Given the description of an element on the screen output the (x, y) to click on. 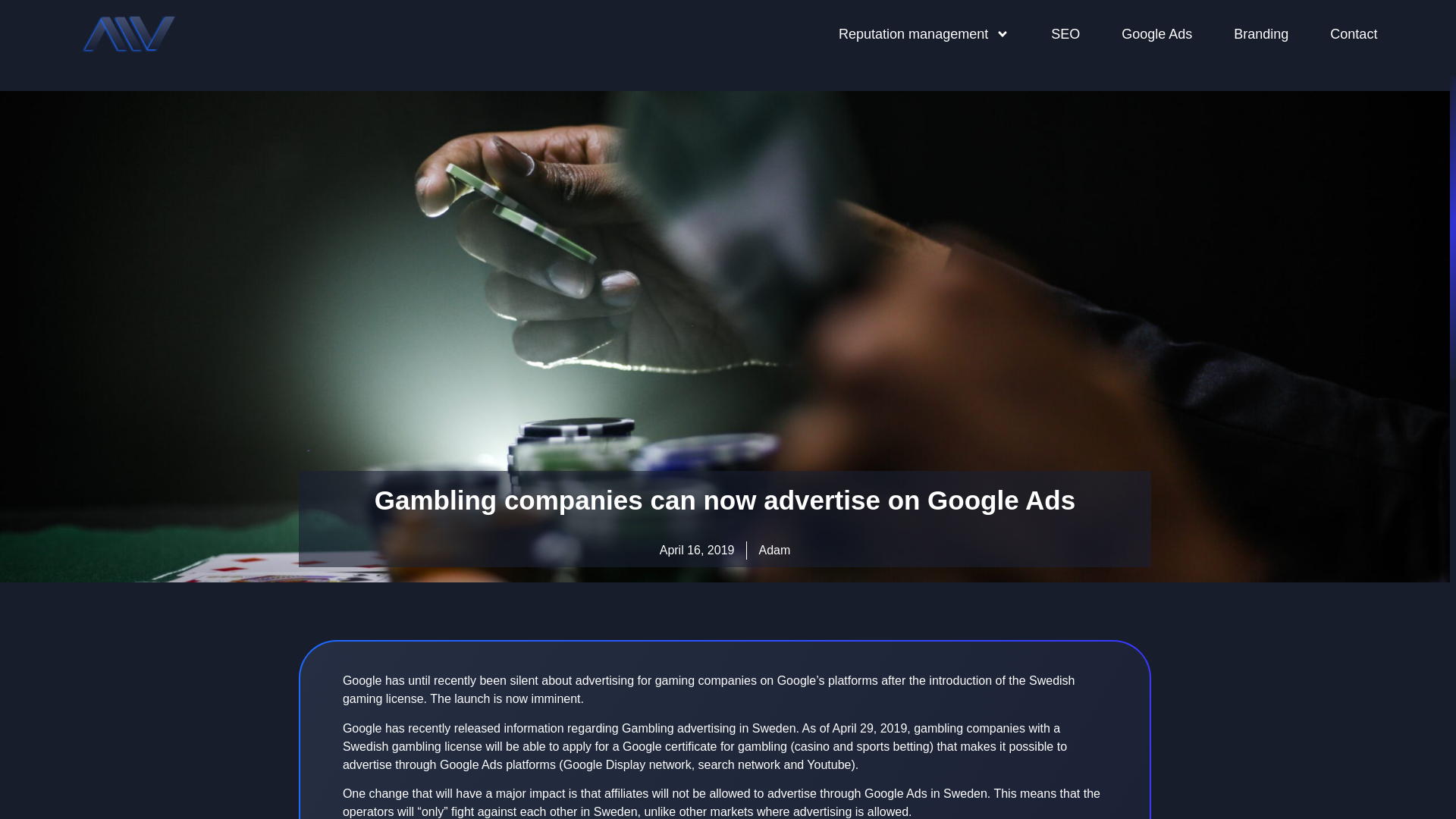
Reputation management (923, 33)
April 16, 2019 (697, 550)
Adam (774, 550)
Contact (1353, 33)
SEO (1065, 33)
Google Ads (1156, 33)
Branding (1260, 33)
